Given the description of an element on the screen output the (x, y) to click on. 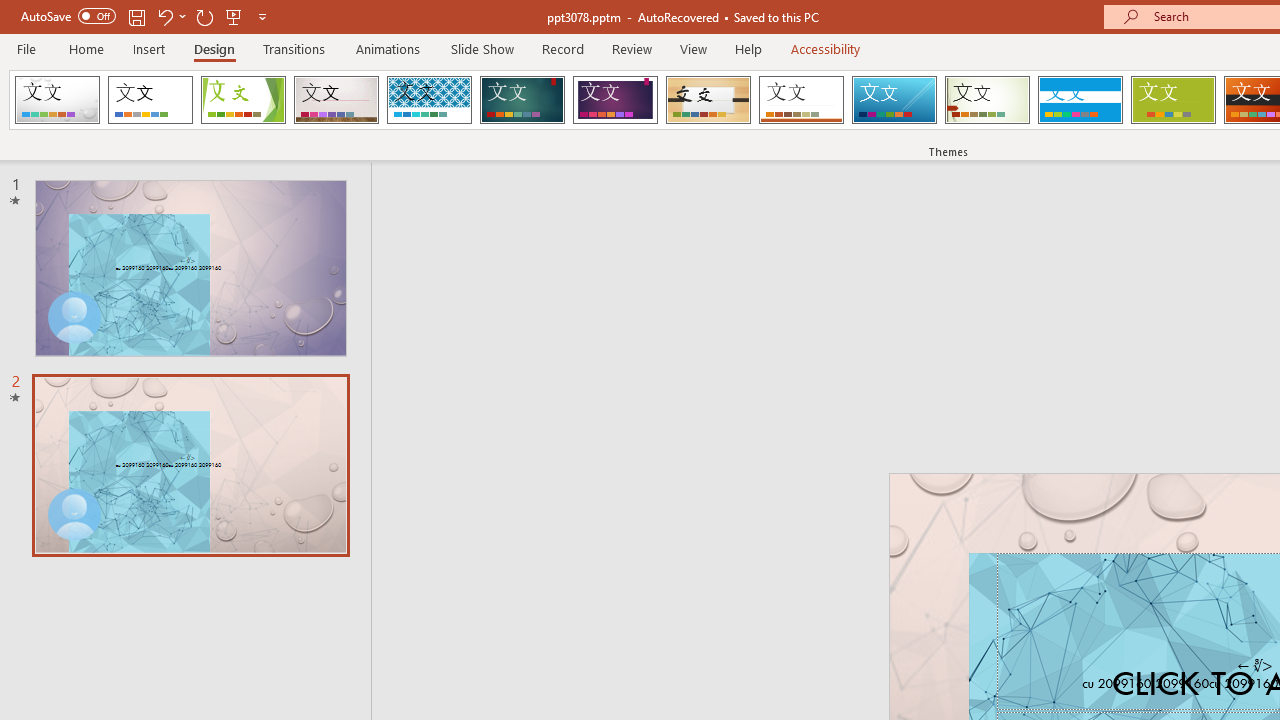
Organic (708, 100)
Integral (429, 100)
Ion Boardroom (615, 100)
Ion (522, 100)
Wisp (987, 100)
Office Theme (150, 100)
